Given the description of an element on the screen output the (x, y) to click on. 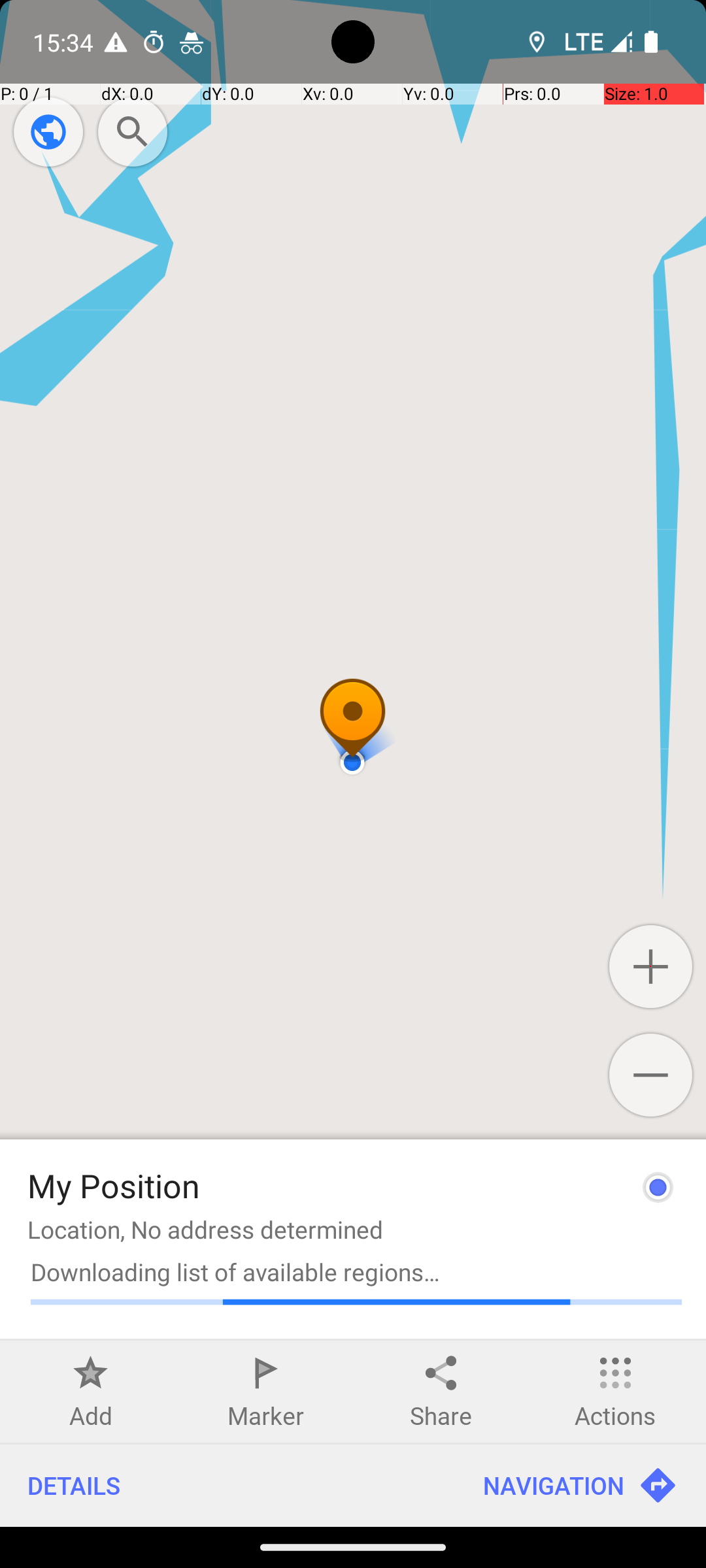
My Position Element type: android.widget.TextView (113, 1185)
Location, No address determined Element type: android.widget.TextView (205, 1228)
DETAILS Element type: android.widget.TextView (227, 1485)
NAVIGATION Element type: android.widget.TextView (580, 1485)
Downloading list of available regions… Element type: android.widget.TextView (355, 1271)
Add Element type: android.widget.TextView (90, 1415)
Marker Element type: android.widget.TextView (265, 1415)
